Given the description of an element on the screen output the (x, y) to click on. 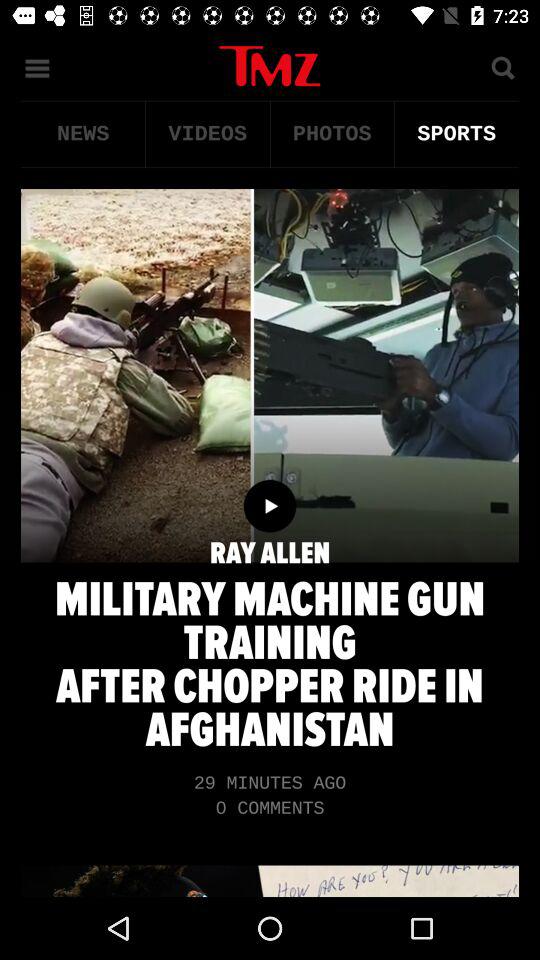
turn off app to the left of sports icon (332, 133)
